Given the description of an element on the screen output the (x, y) to click on. 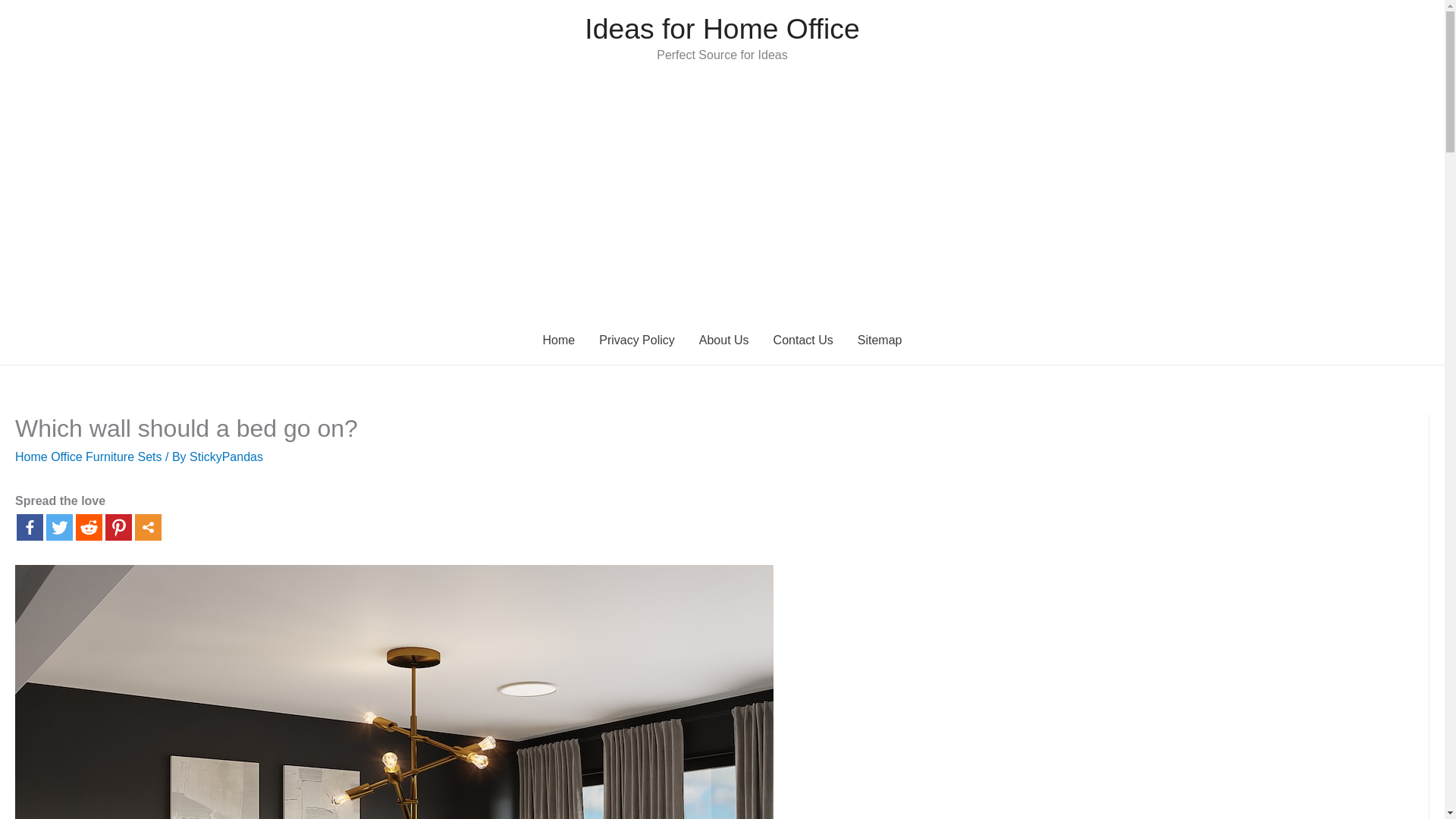
About Us (724, 340)
Sitemap (879, 340)
Facebook (29, 527)
Pinterest (118, 527)
Home Office Furniture Sets (87, 456)
Reddit (88, 527)
Ideas for Home Office (722, 29)
StickyPandas (226, 456)
Contact Us (803, 340)
Privacy Policy (636, 340)
More (148, 527)
View all posts by StickyPandas (226, 456)
Home (559, 340)
Twitter (59, 527)
